Given the description of an element on the screen output the (x, y) to click on. 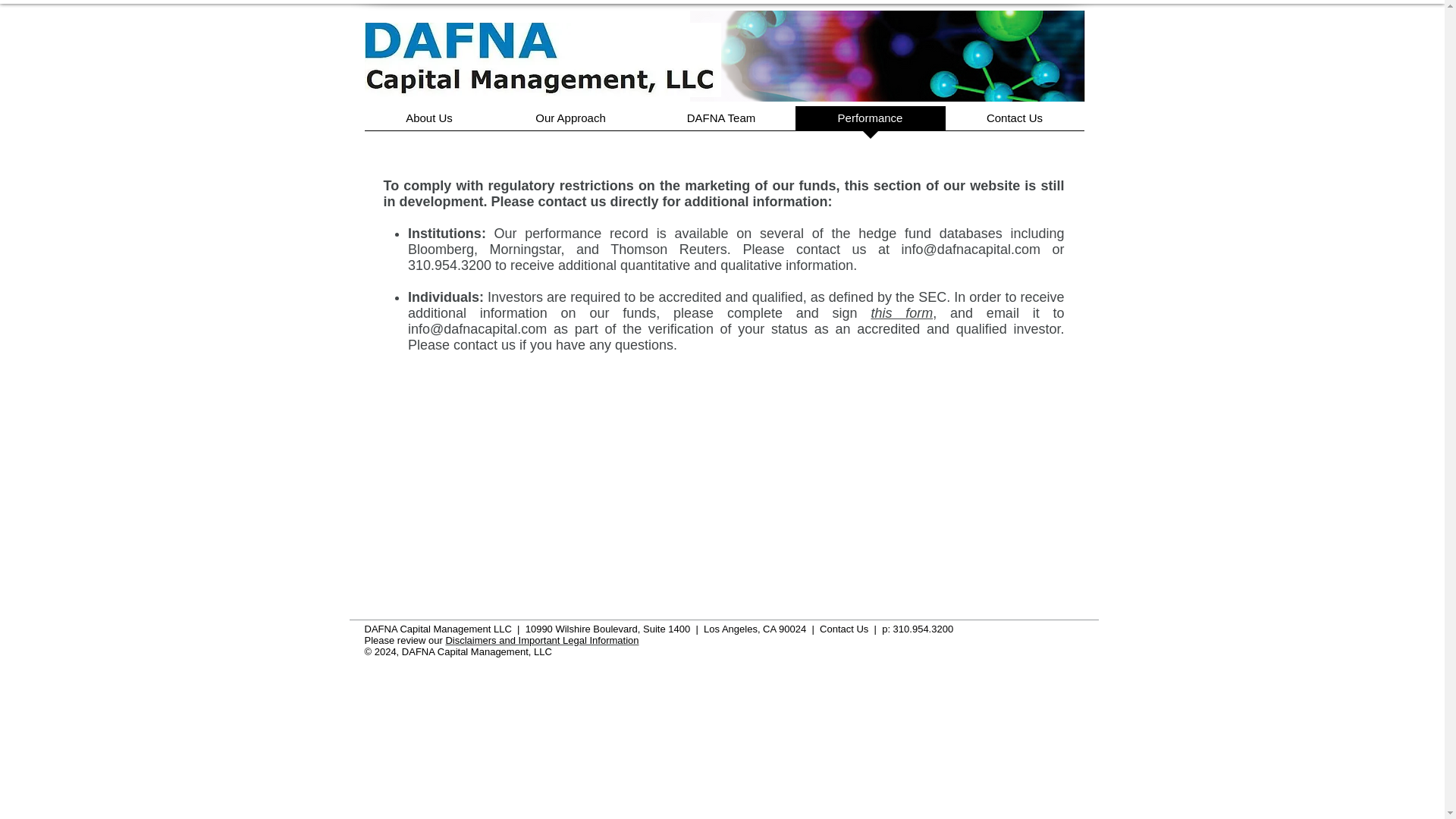
Performance (869, 123)
Disclaimers and Important Legal Information (542, 640)
Our Approach (571, 123)
About Us (428, 123)
this form (901, 313)
Contact Us (1013, 123)
DAFNA Team (720, 123)
